Given the description of an element on the screen output the (x, y) to click on. 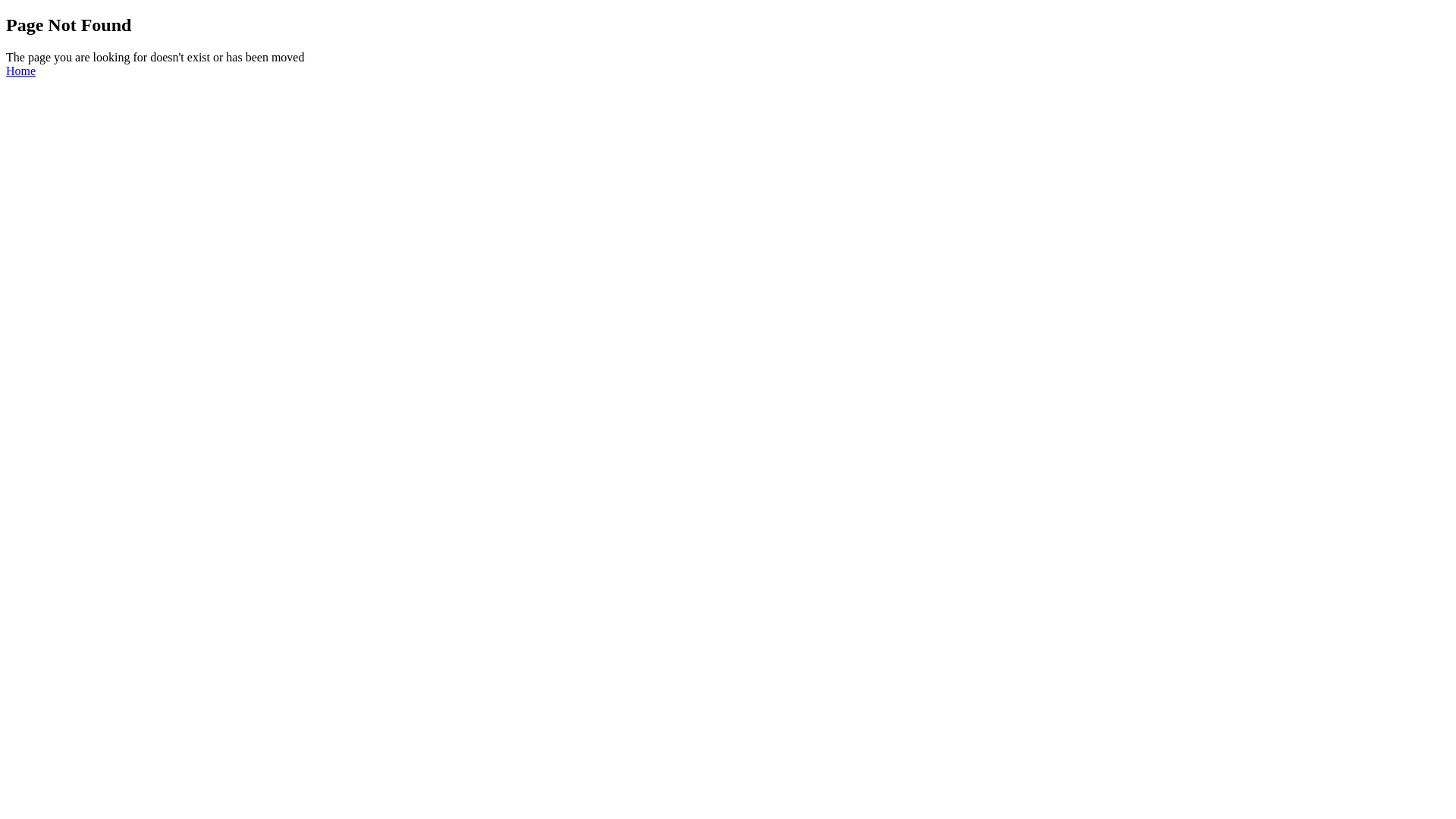
Home Element type: text (20, 70)
